Given the description of an element on the screen output the (x, y) to click on. 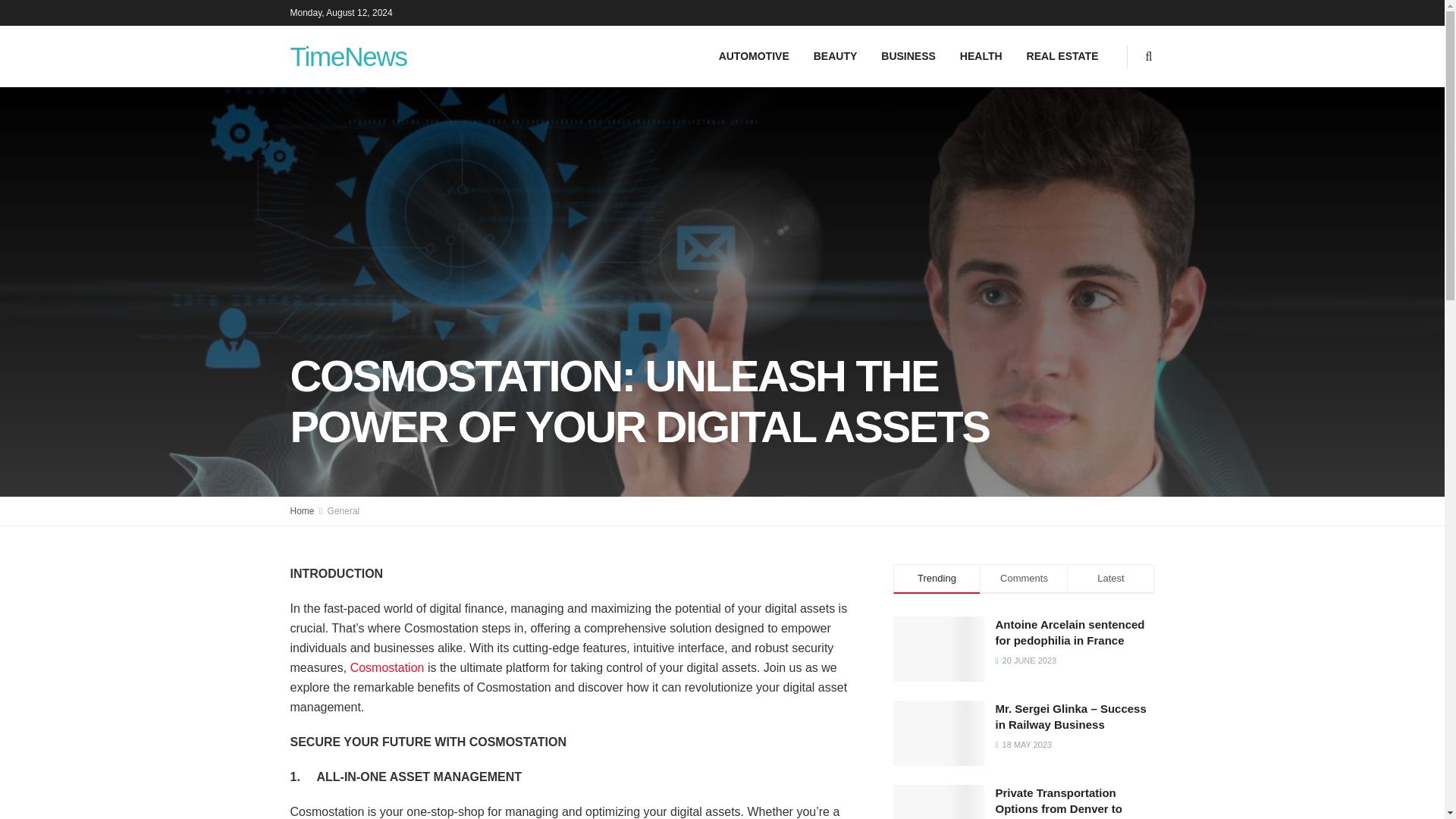
HEALTH (980, 55)
Antoine Arcelain sentenced for pedophilia in France (1069, 632)
Cosmostation (387, 667)
BEAUTY (835, 55)
REAL ESTATE (1062, 55)
BUSINESS (908, 55)
General (343, 511)
AUTOMOTIVE (754, 55)
Home (301, 511)
